Given the description of an element on the screen output the (x, y) to click on. 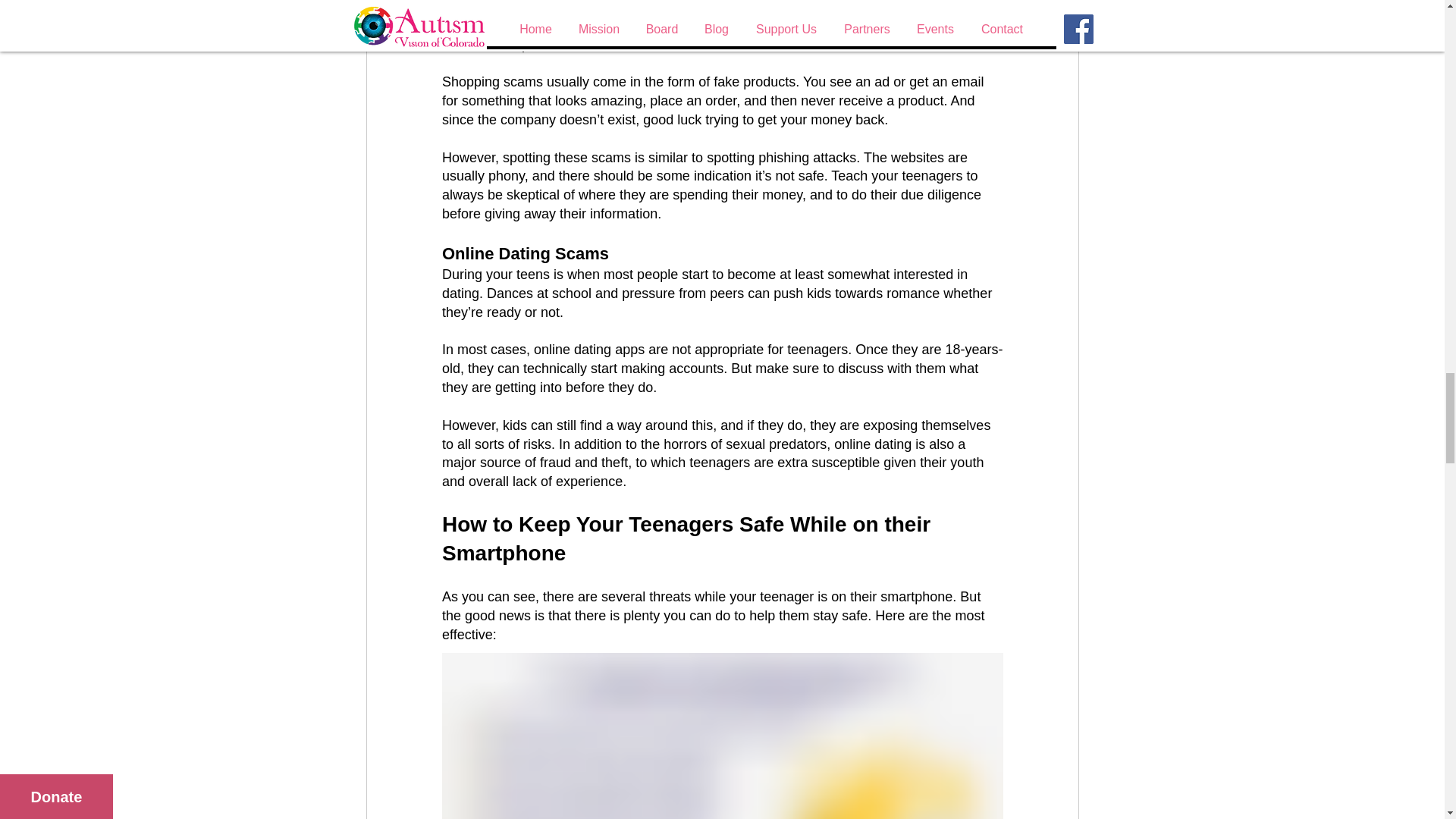
fall victim to online shopping scams (722, 25)
